Given the description of an element on the screen output the (x, y) to click on. 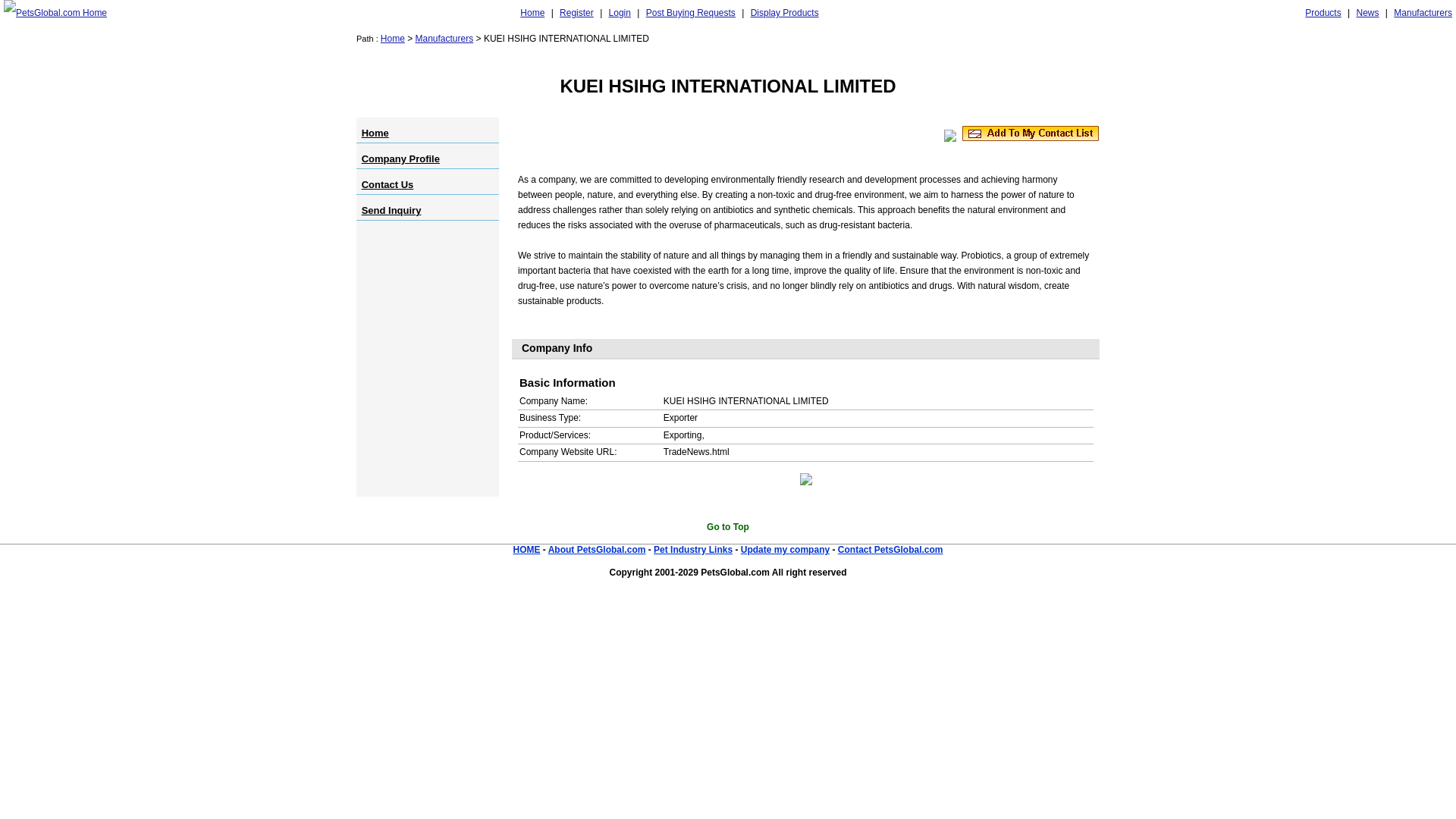
Products (1322, 13)
Register (576, 13)
Update my company (785, 549)
About PetsGlobal.com (597, 549)
Home (392, 38)
Pet Industry Links (692, 549)
Contact Us (387, 184)
Send Inquiry (391, 210)
Display Products (784, 13)
Login (619, 13)
Go to Top (727, 526)
Home (532, 13)
Home (374, 132)
News (1366, 13)
Post Buying Requests (690, 13)
